Given the description of an element on the screen output the (x, y) to click on. 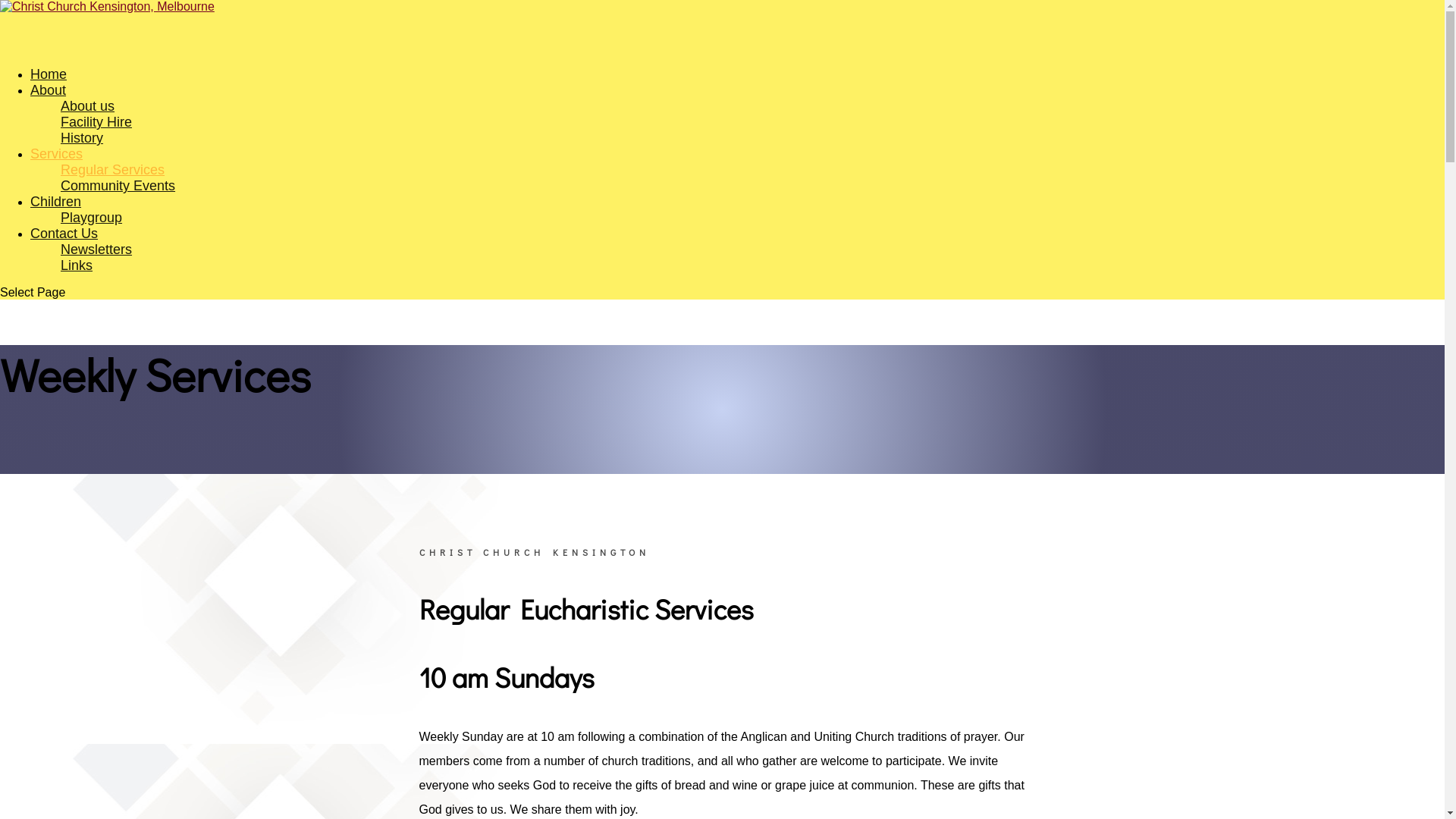
Newsletters Element type: text (95, 249)
Home Element type: text (48, 94)
About Element type: text (47, 110)
About us Element type: text (87, 105)
Children Element type: text (55, 222)
Links Element type: text (76, 265)
Community Events Element type: text (117, 185)
Playgroup Element type: text (91, 217)
Services Element type: text (56, 174)
History Element type: text (81, 137)
Facility Hire Element type: text (95, 121)
Contact Us Element type: text (63, 253)
Regular Services Element type: text (112, 169)
